Given the description of an element on the screen output the (x, y) to click on. 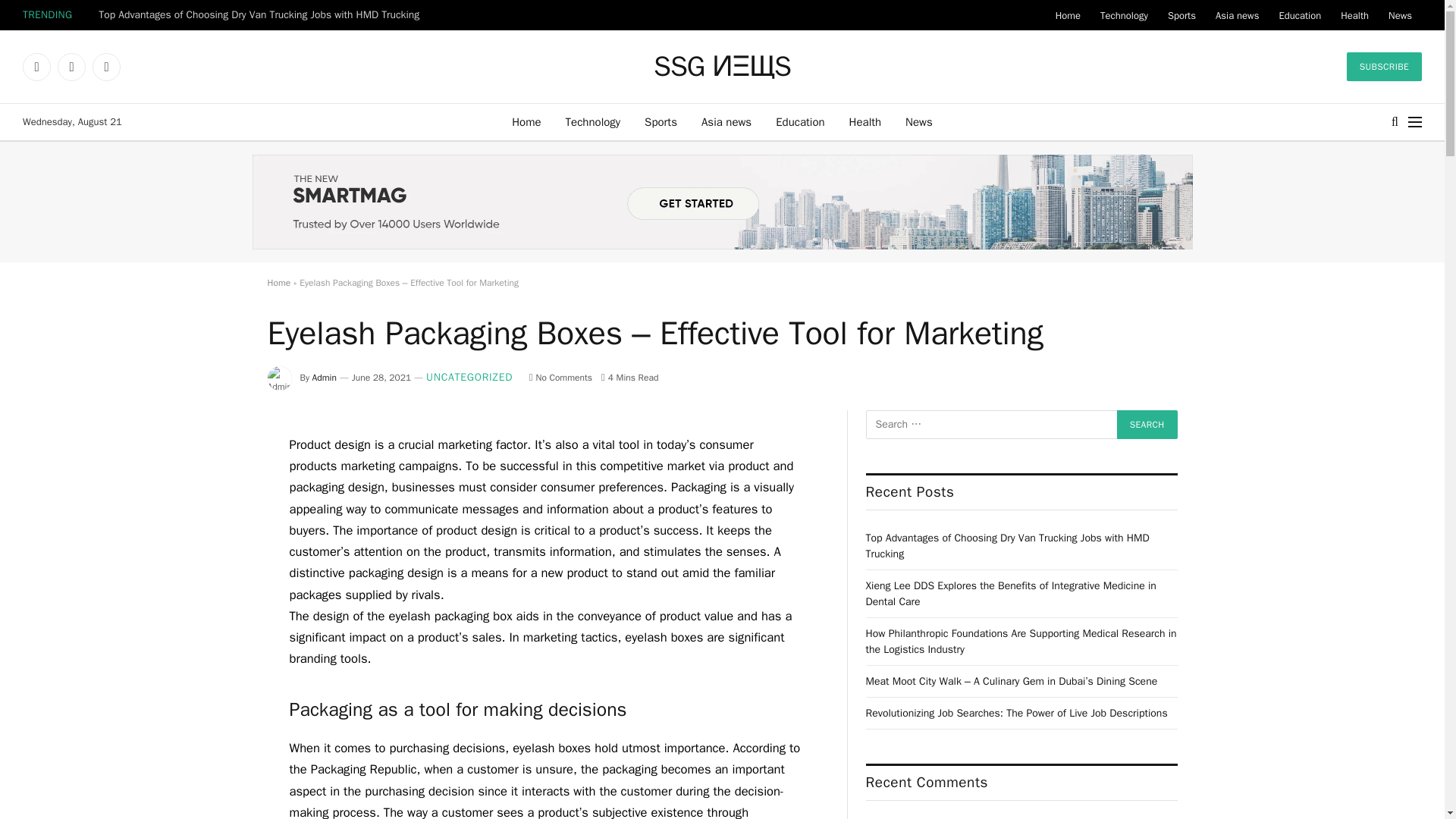
Search (1146, 424)
Technology (1123, 15)
Asia news (725, 122)
Sports (1181, 15)
SUBSCRIBE (1384, 66)
Home (526, 122)
Instagram (106, 67)
Facebook (36, 67)
Sports (659, 122)
Technology (593, 122)
